Given the description of an element on the screen output the (x, y) to click on. 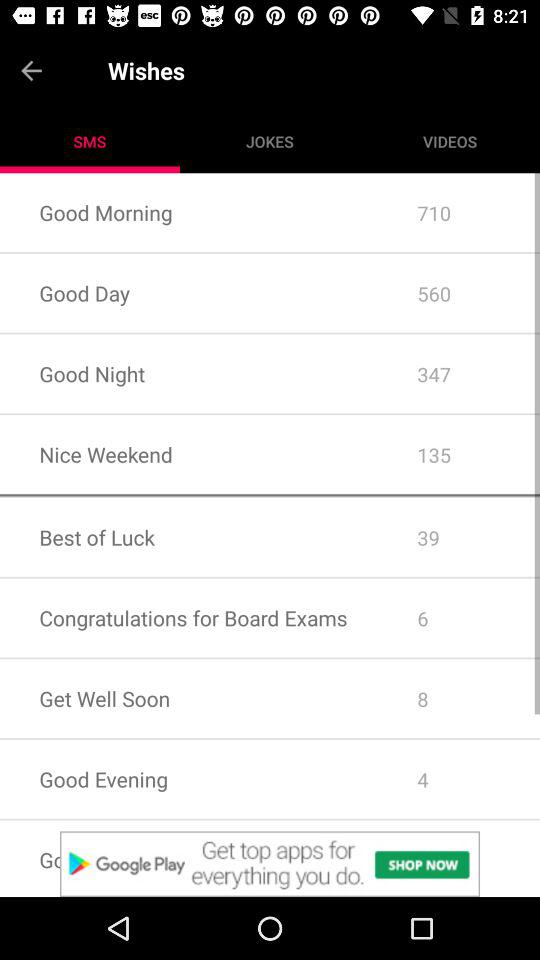
click icon below the best of luck item (270, 576)
